Given the description of an element on the screen output the (x, y) to click on. 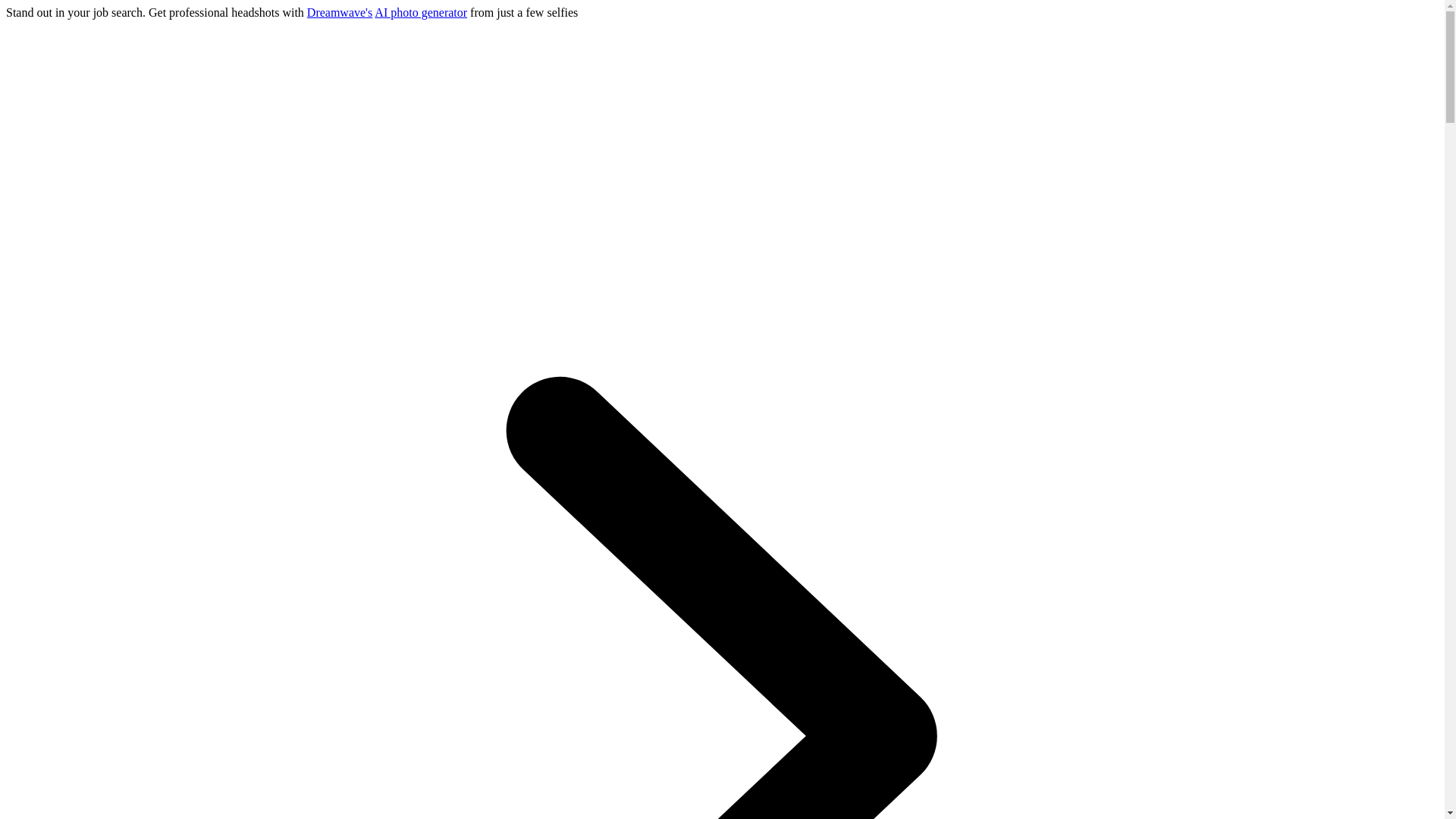
Dreamwave's (339, 11)
AI photo generator (420, 11)
